Given the description of an element on the screen output the (x, y) to click on. 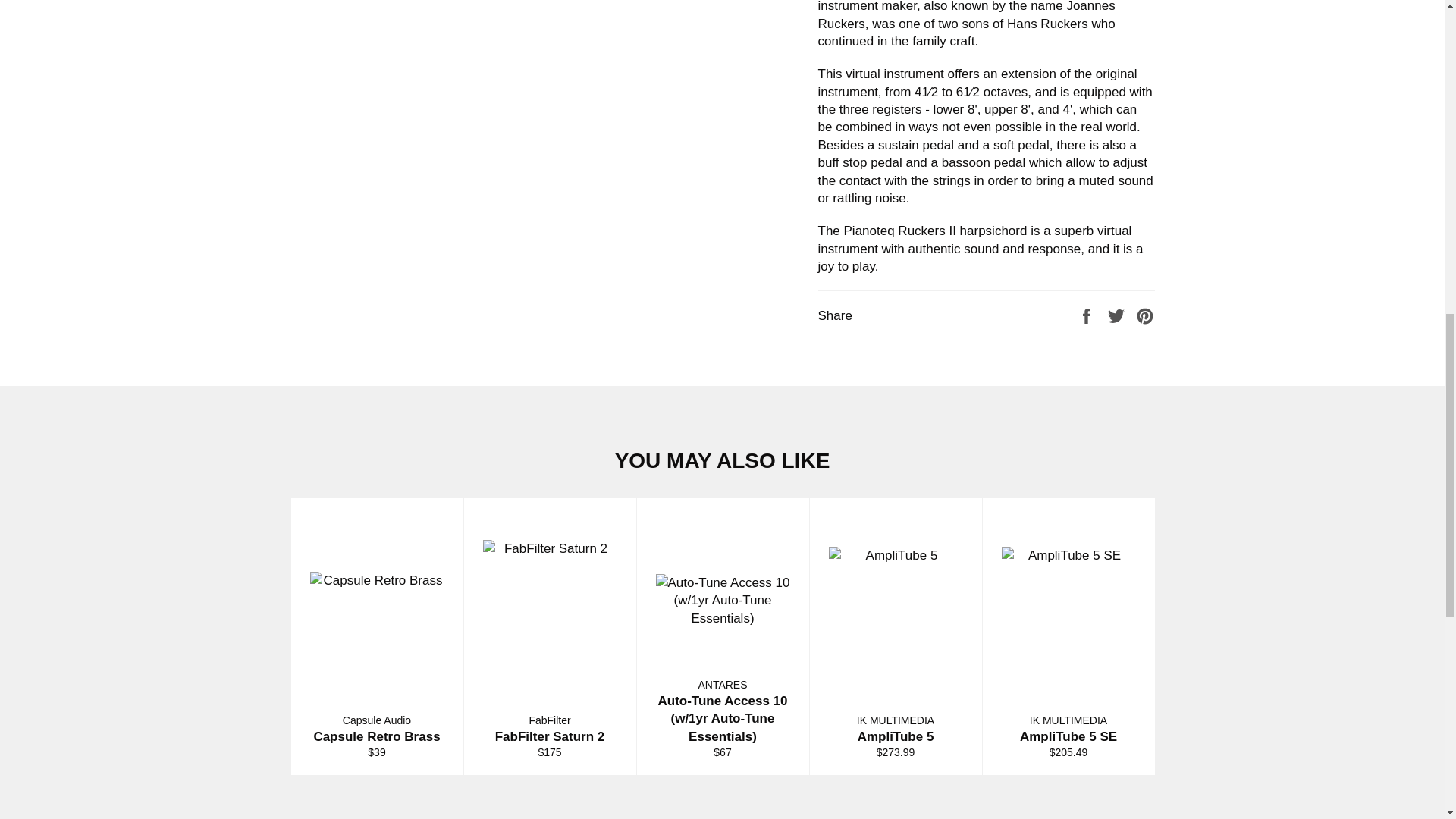
Tweet on Twitter (1117, 314)
Share on Facebook (1088, 314)
Pin on Pinterest (1144, 314)
